Given the description of an element on the screen output the (x, y) to click on. 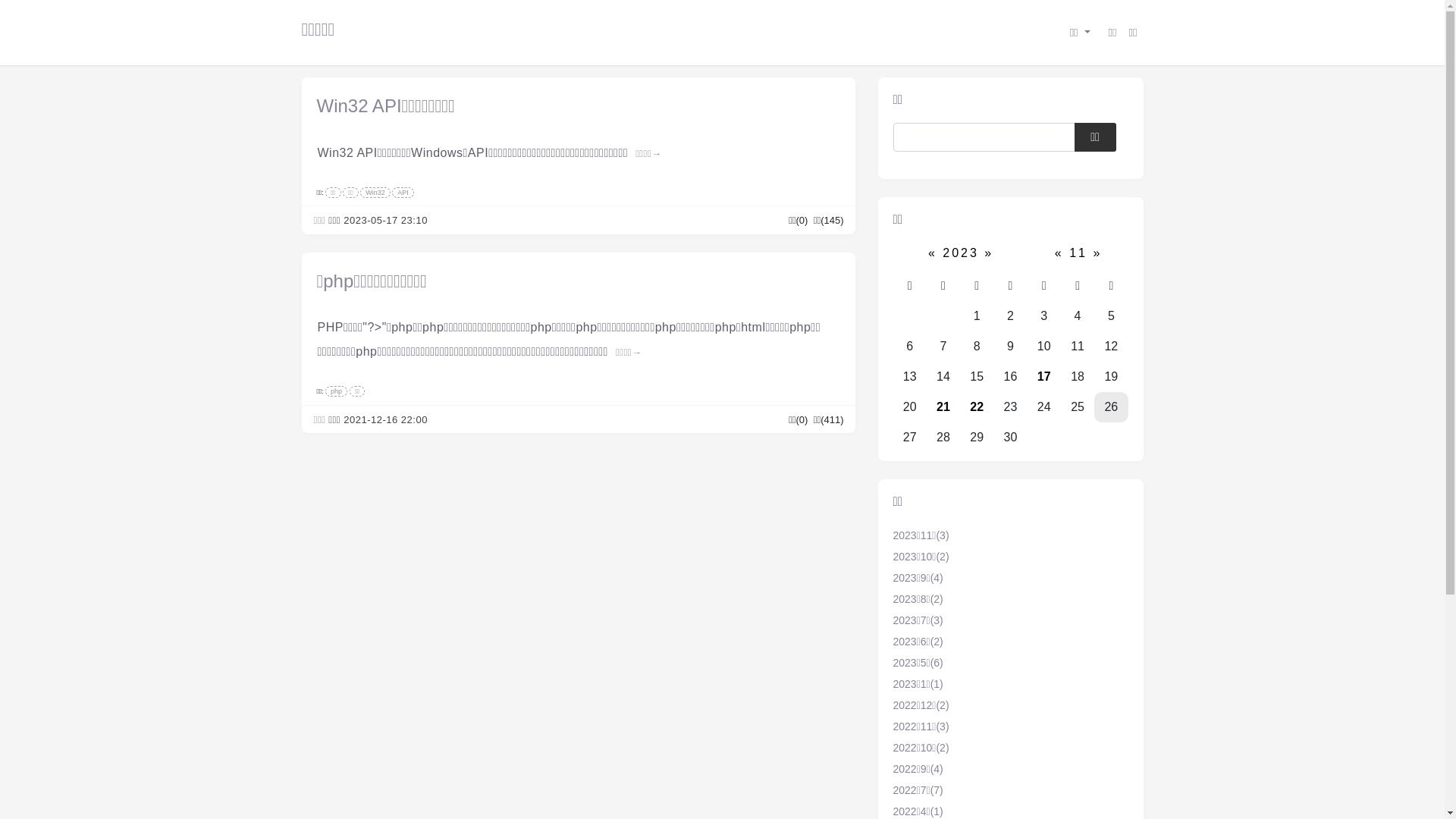
API Element type: text (403, 192)
21 Element type: text (943, 406)
Win32 Element type: text (375, 192)
17 Element type: text (1044, 376)
php Element type: text (336, 390)
22 Element type: text (976, 406)
